Given the description of an element on the screen output the (x, y) to click on. 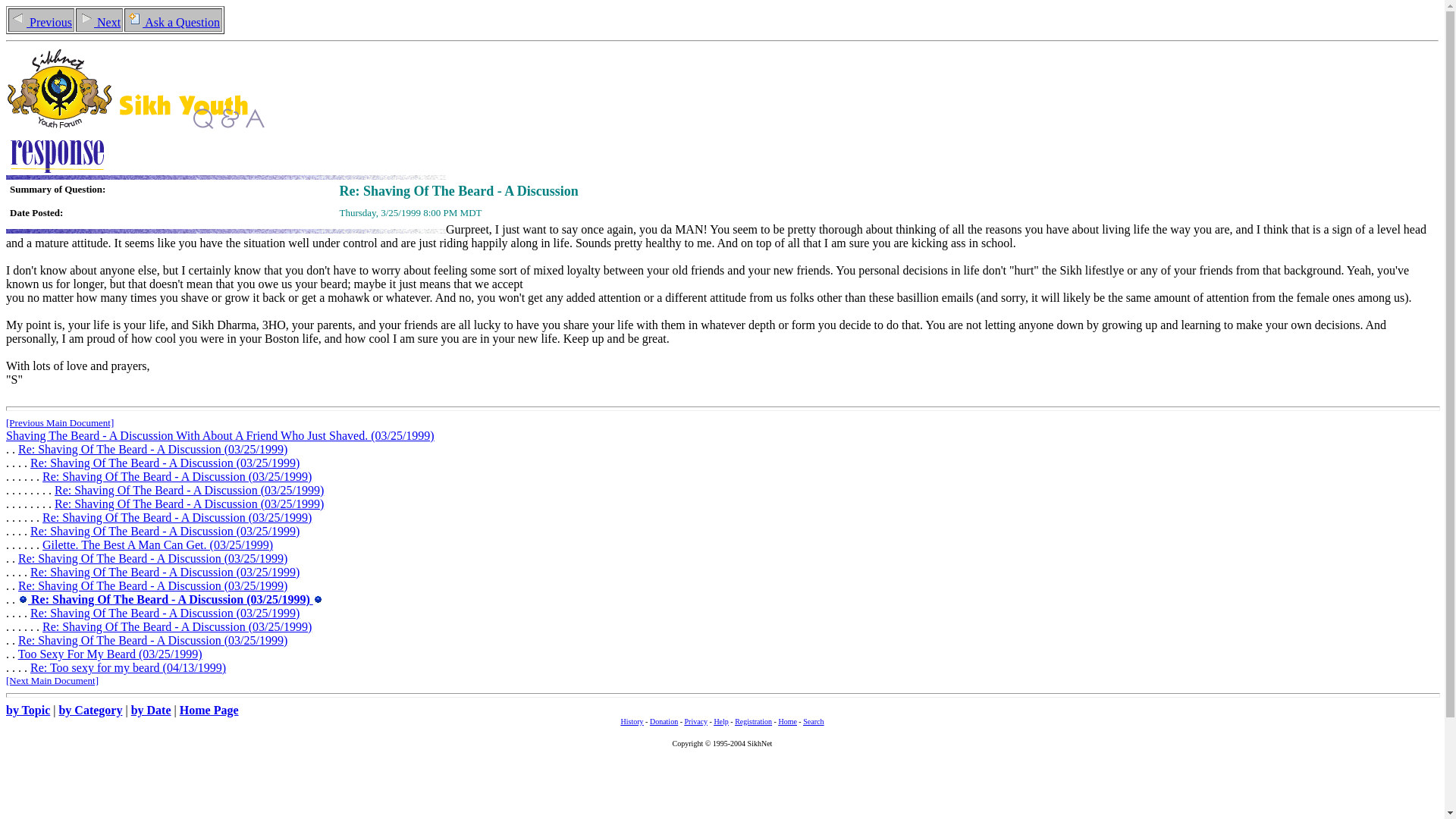
Next (99, 21)
by Topic (27, 709)
Previous (40, 21)
Donation (663, 719)
Registration (753, 719)
History (632, 719)
Home Page (208, 709)
Search (813, 719)
Help (720, 719)
Privacy (695, 719)
by Category (90, 709)
by Date (151, 709)
Ask a Question (172, 21)
Home (786, 719)
